Given the description of an element on the screen output the (x, y) to click on. 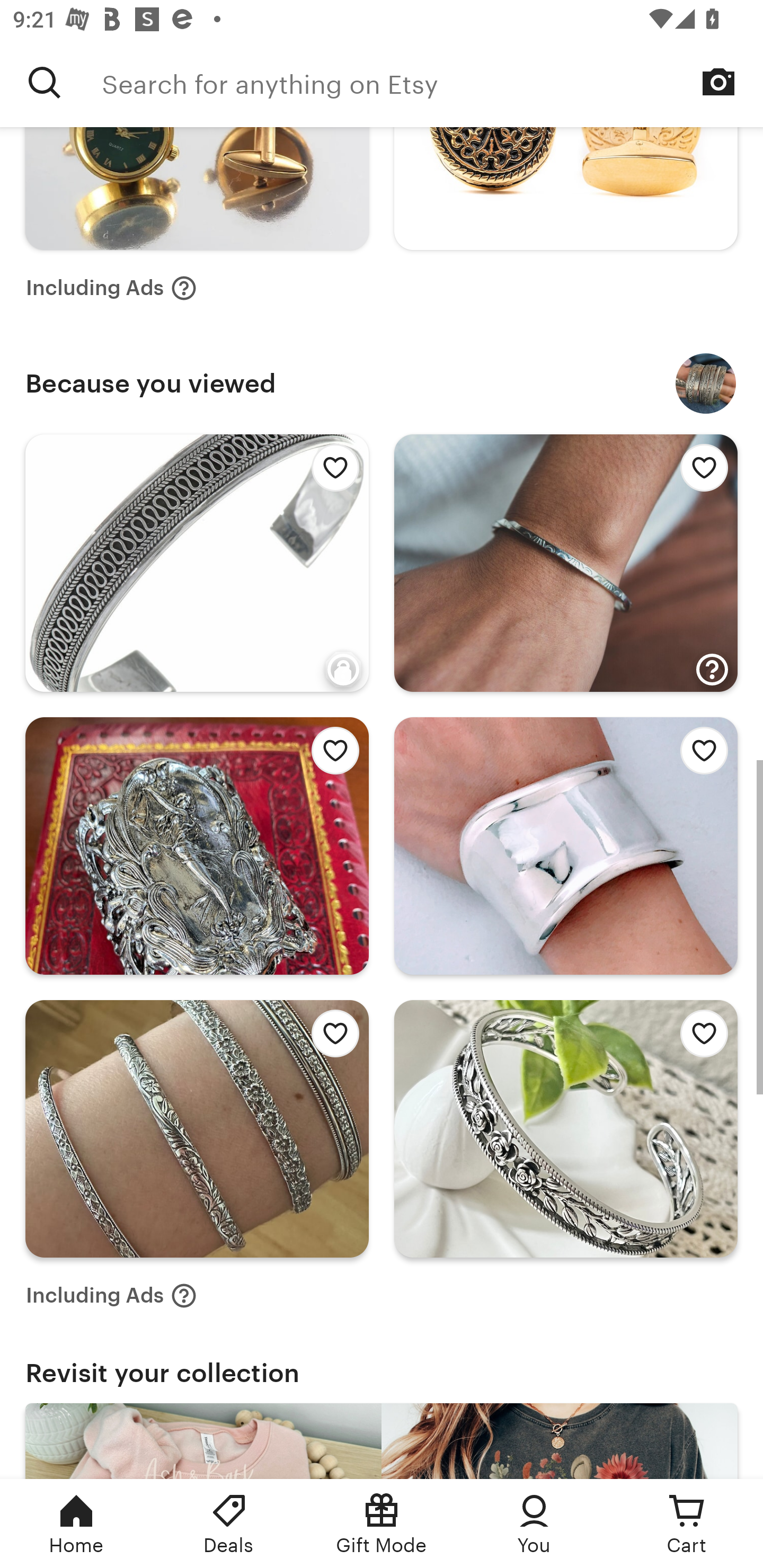
Search for anything on Etsy (44, 82)
Search by image (718, 81)
Search for anything on Etsy (432, 82)
Including Ads (111, 287)
Including Ads (111, 1295)
Deals (228, 1523)
Gift Mode (381, 1523)
You (533, 1523)
Cart (686, 1523)
